Given the description of an element on the screen output the (x, y) to click on. 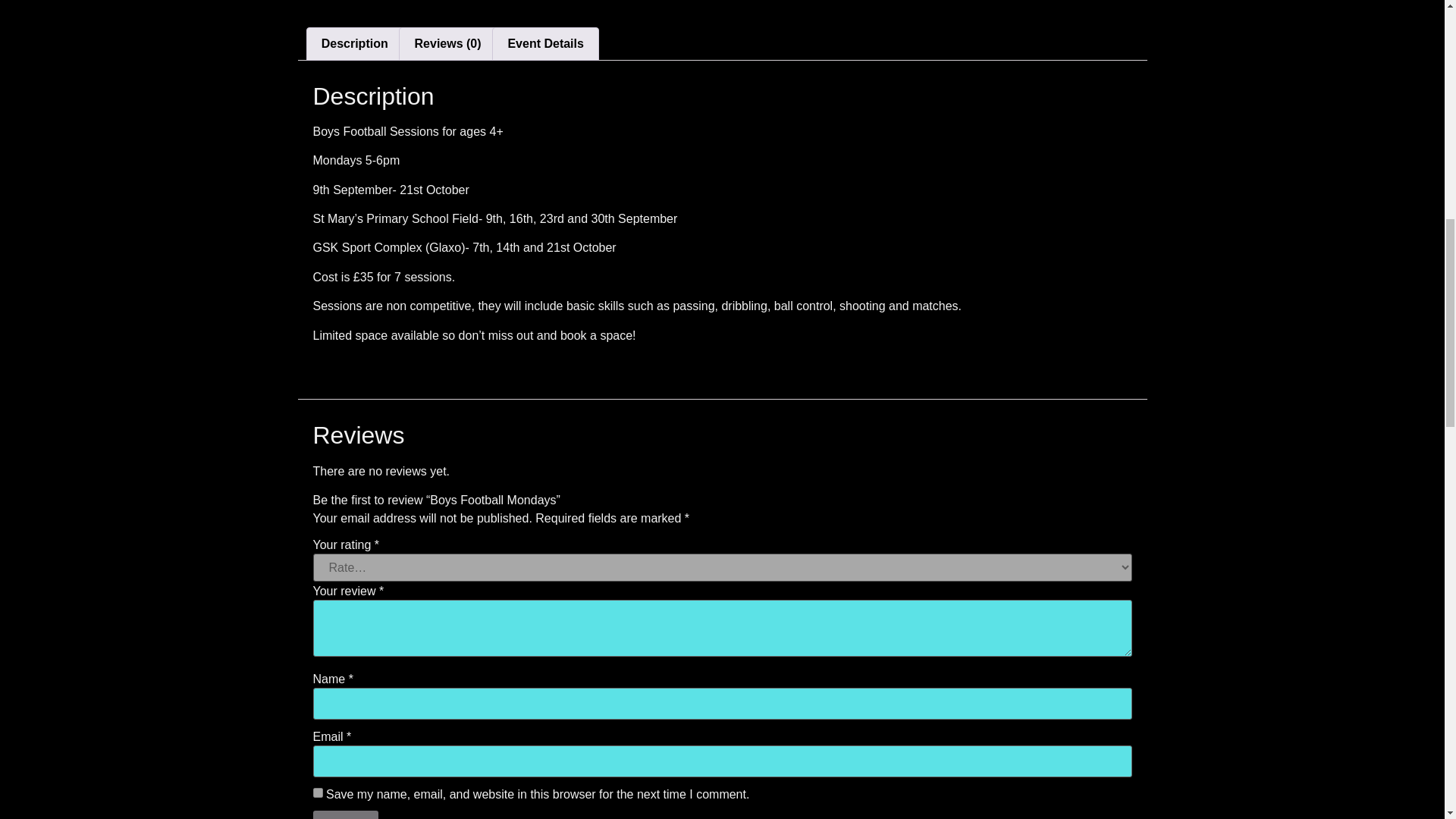
yes (317, 792)
Submit (345, 814)
